Given the description of an element on the screen output the (x, y) to click on. 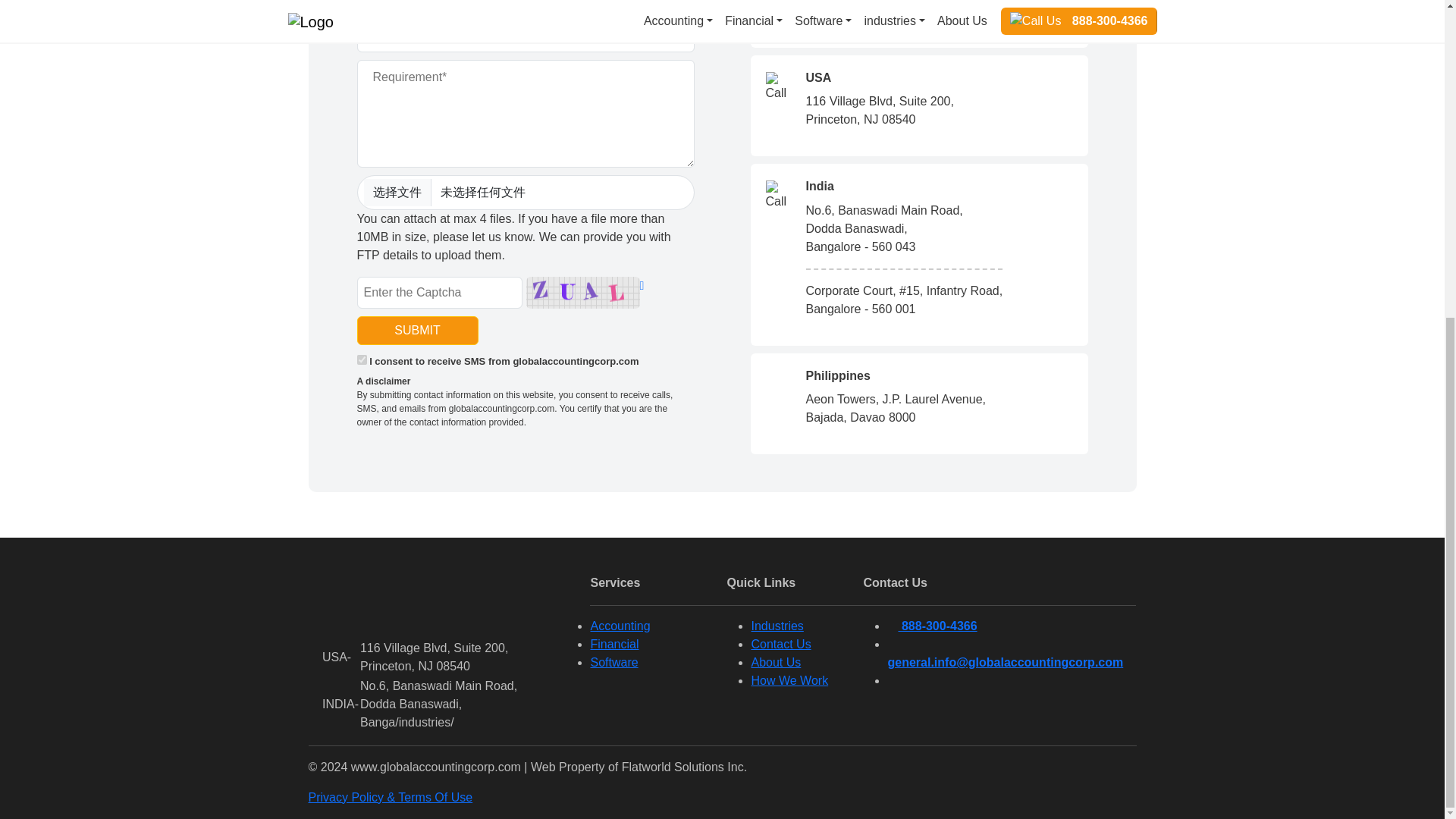
on (361, 359)
SUBMIT (416, 330)
